Given the description of an element on the screen output the (x, y) to click on. 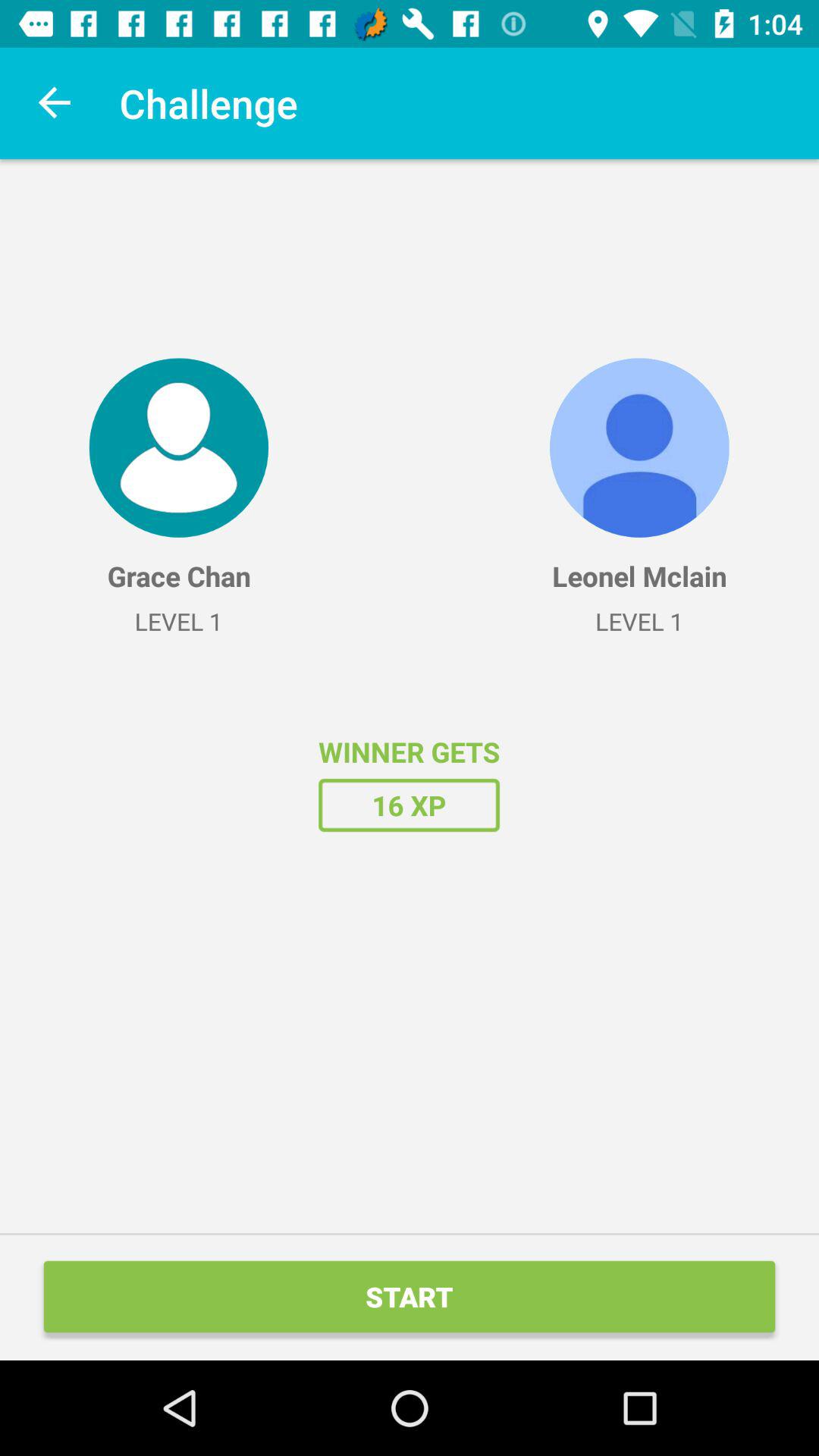
select the start item (409, 1296)
